Given the description of an element on the screen output the (x, y) to click on. 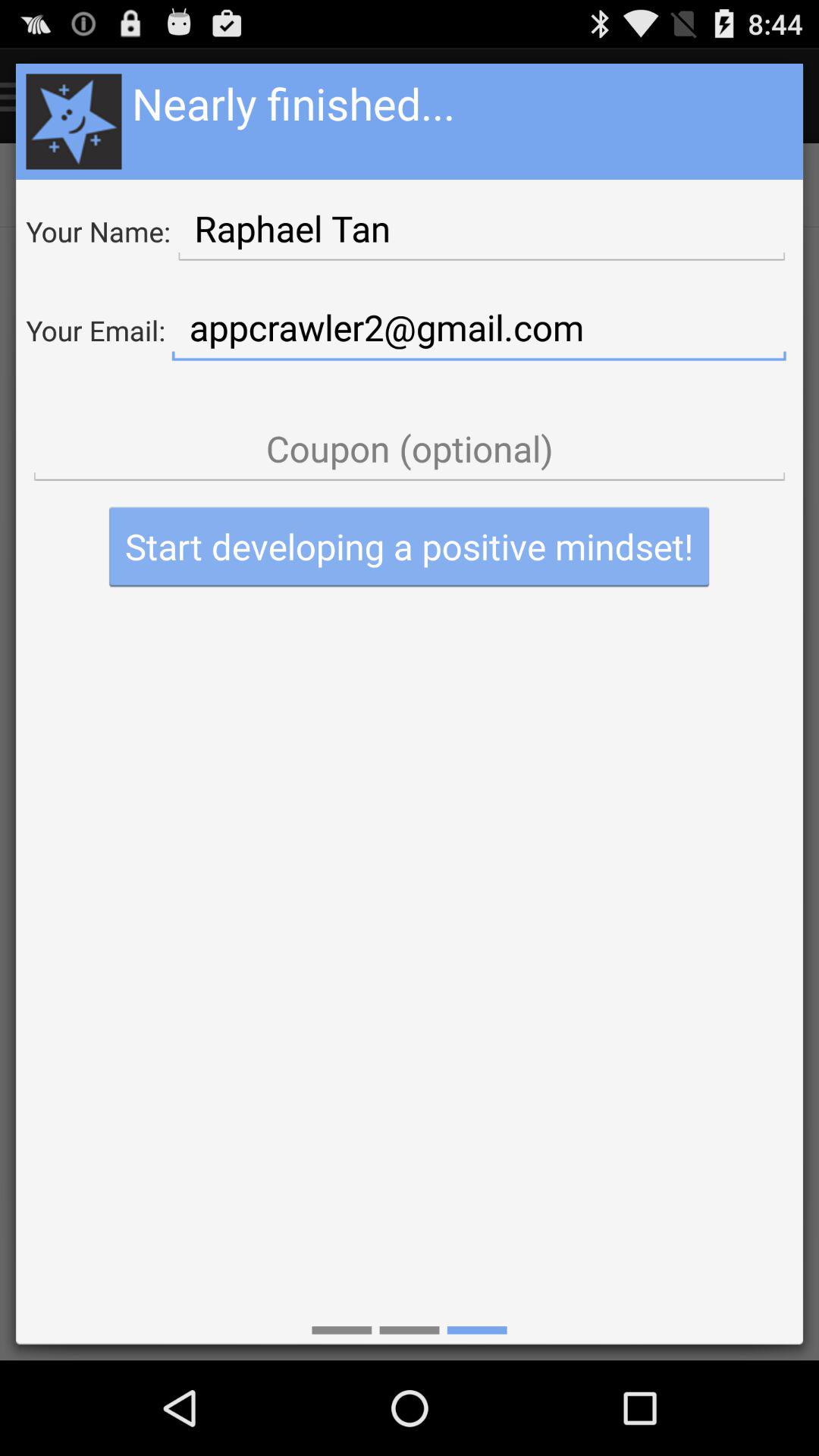
enter a coupon code (409, 449)
